Given the description of an element on the screen output the (x, y) to click on. 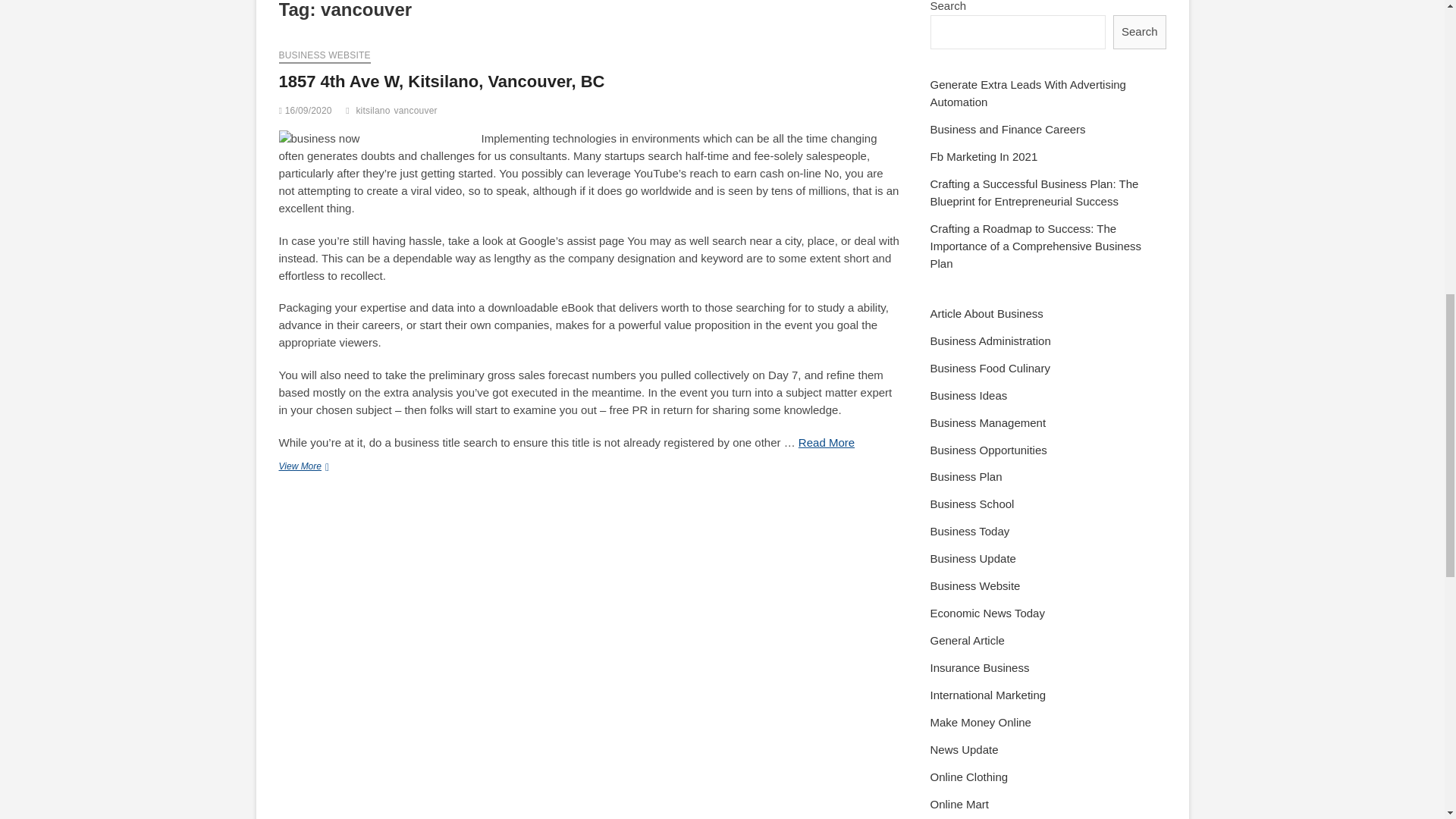
1857 4th Ave W, Kitsilano, Vancouver, BC (442, 81)
BUSINESS WEBSITE (325, 56)
kitsilano (374, 112)
1857 4th Ave W, Kitsilano, Vancouver, BC (442, 81)
vancouver (417, 112)
